Given the description of an element on the screen output the (x, y) to click on. 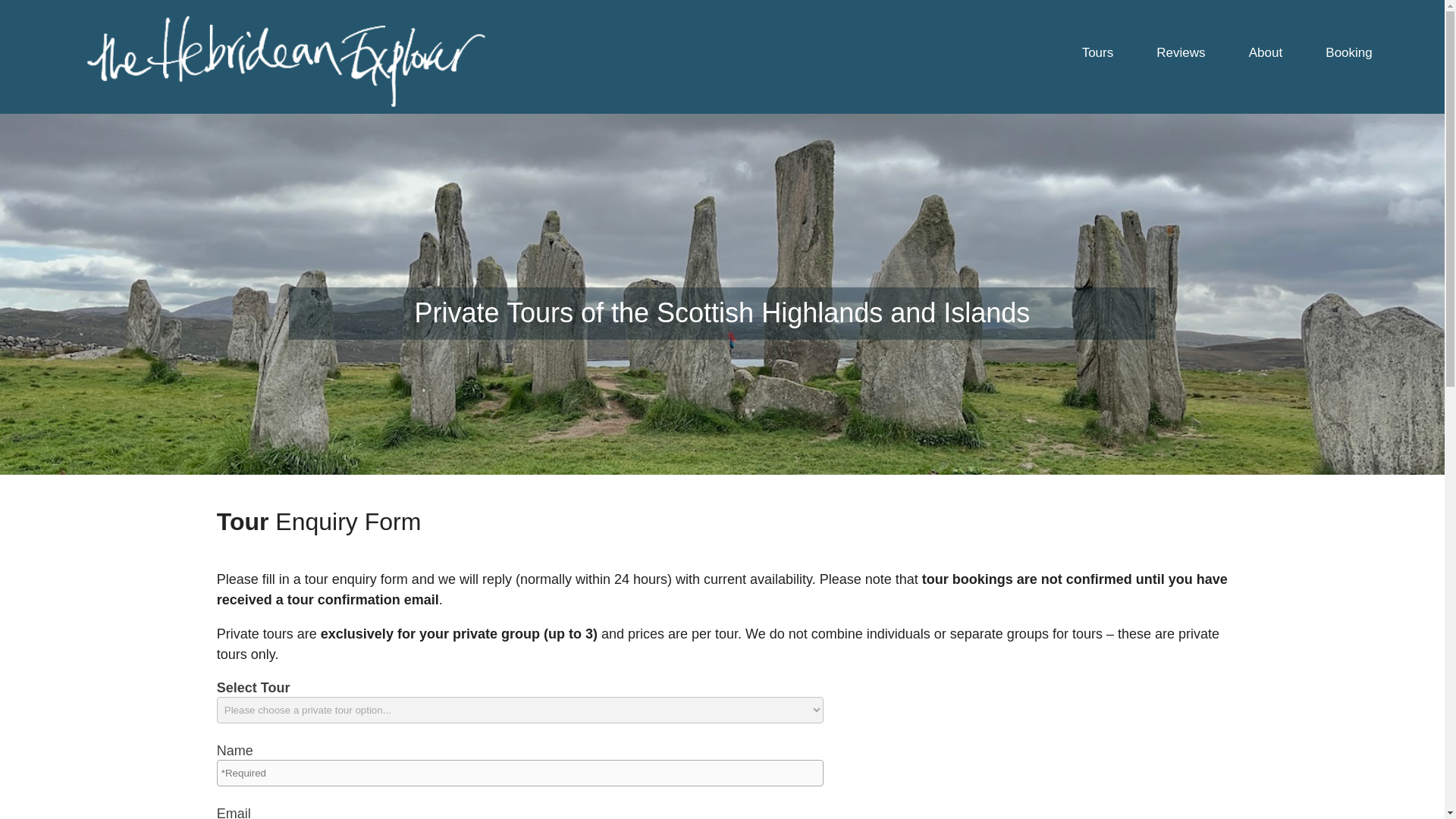
Tours (1097, 52)
Booking (1347, 52)
Reviews (1180, 52)
About (1265, 52)
